Given the description of an element on the screen output the (x, y) to click on. 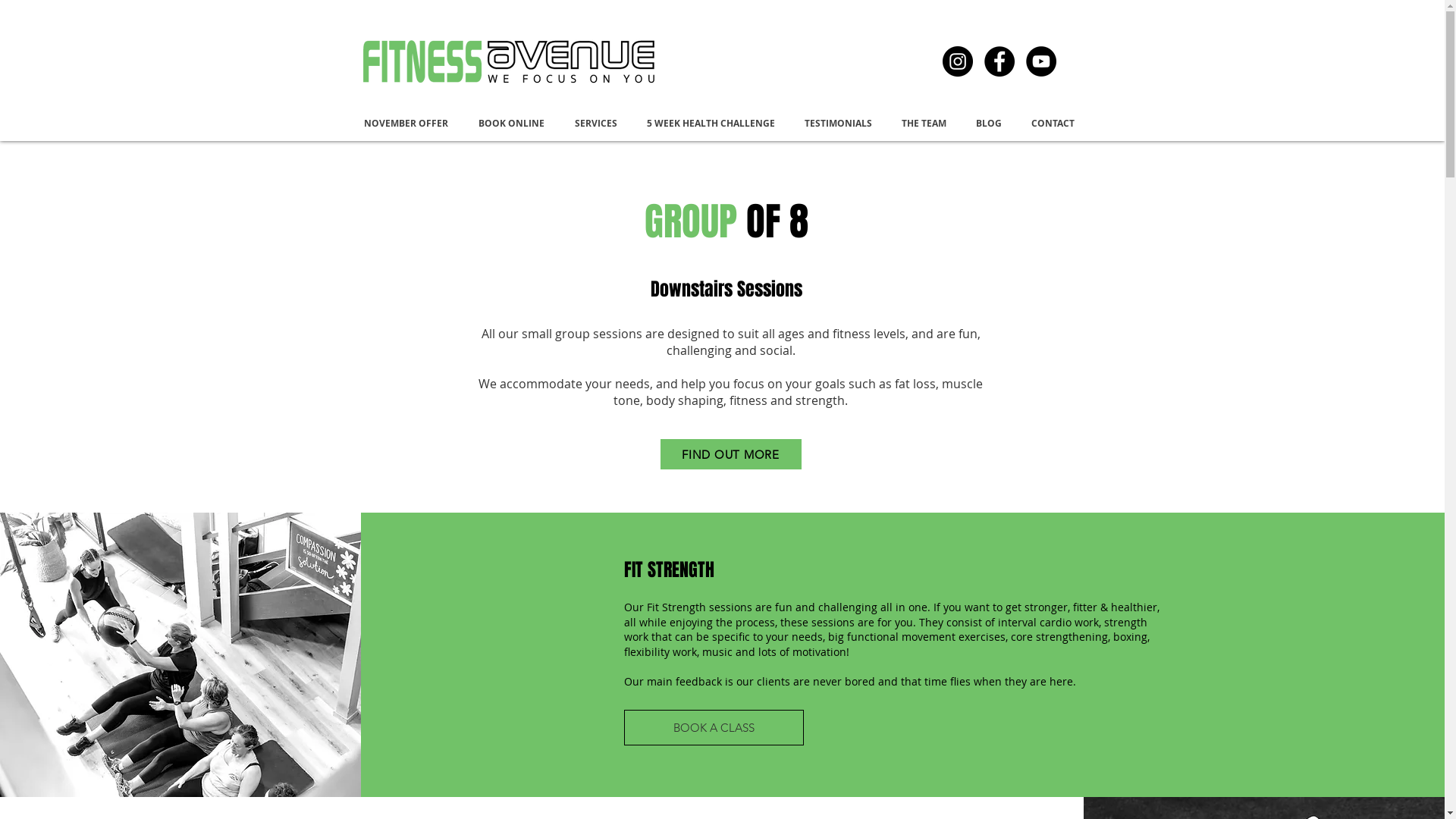
5 WEEK HEALTH CHALLENGE Element type: text (714, 123)
FIND OUT MORE Element type: text (729, 454)
BLOG Element type: text (991, 123)
BOOK ONLINE Element type: text (515, 123)
NOVEMBER OFFER Element type: text (408, 123)
THE TEAM Element type: text (927, 123)
TESTIMONIALS Element type: text (841, 123)
FitnessAve2016_v1.png Element type: hover (515, 61)
BOOK A CLASS Element type: text (713, 727)
CONTACT Element type: text (1055, 123)
